Given the description of an element on the screen output the (x, y) to click on. 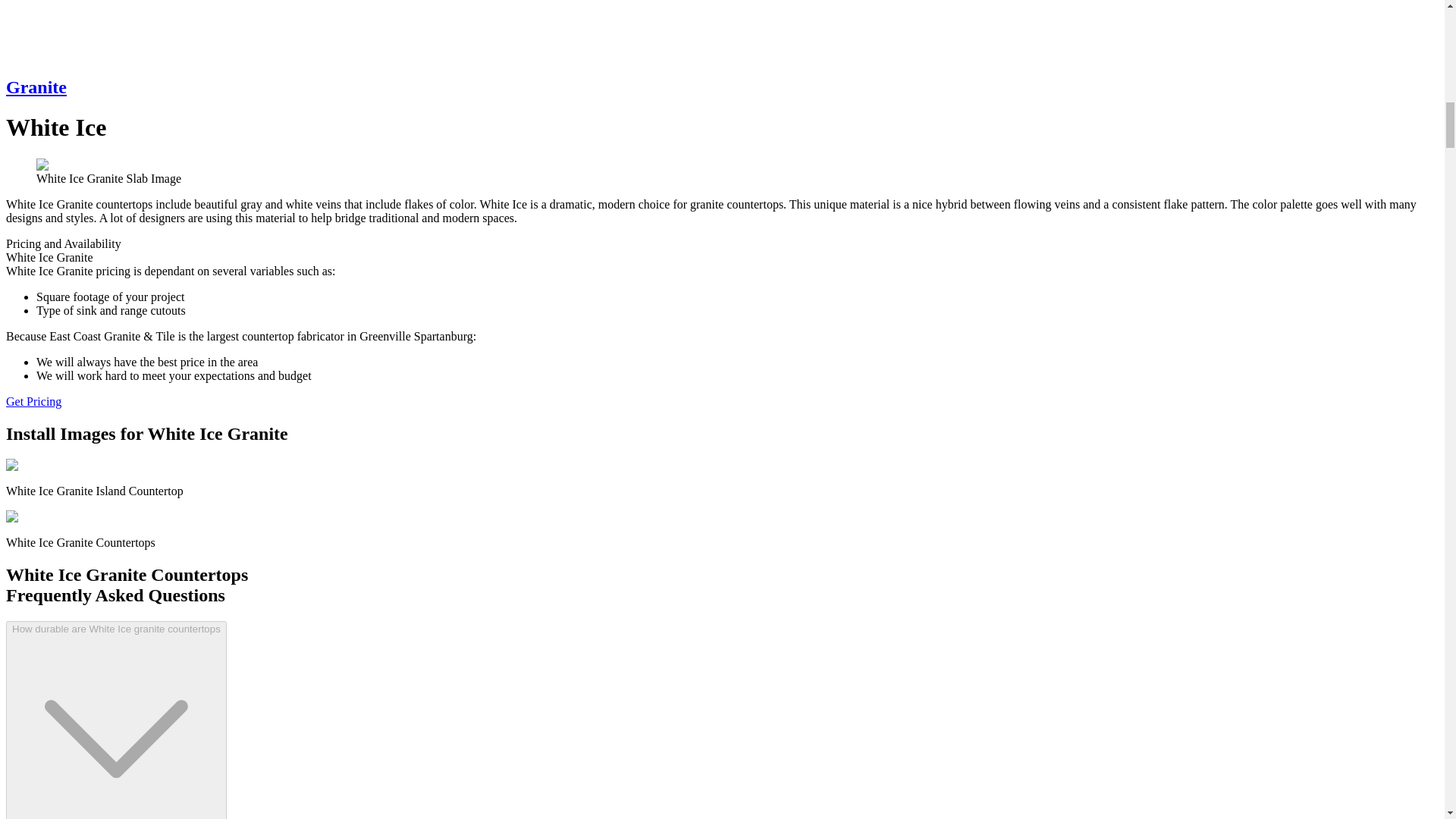
Get Pricing (33, 400)
How durable are White Ice granite countertops (116, 719)
